Given the description of an element on the screen output the (x, y) to click on. 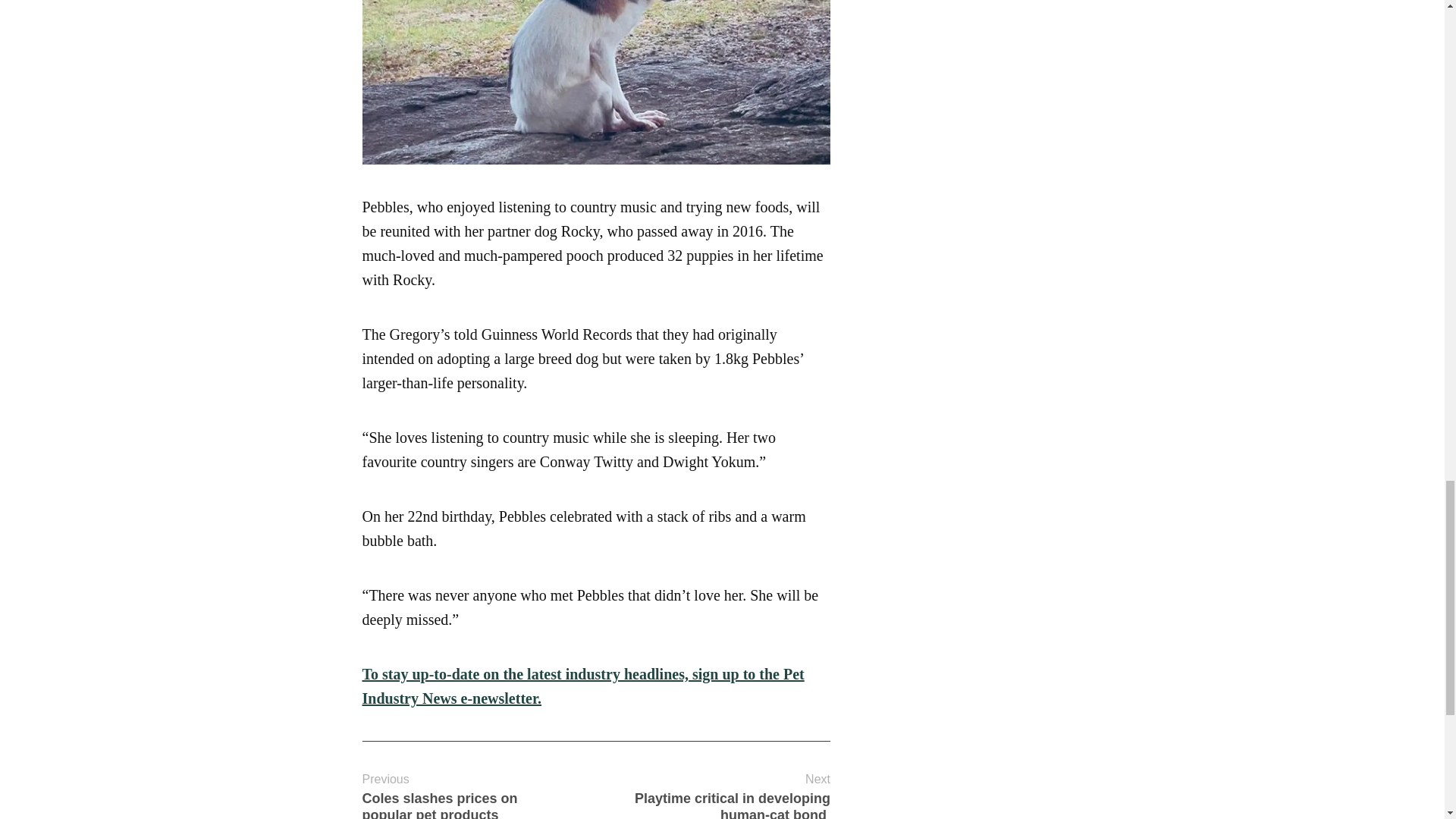
Form 0 (464, 795)
3rd party ad content (968, 53)
